Given the description of an element on the screen output the (x, y) to click on. 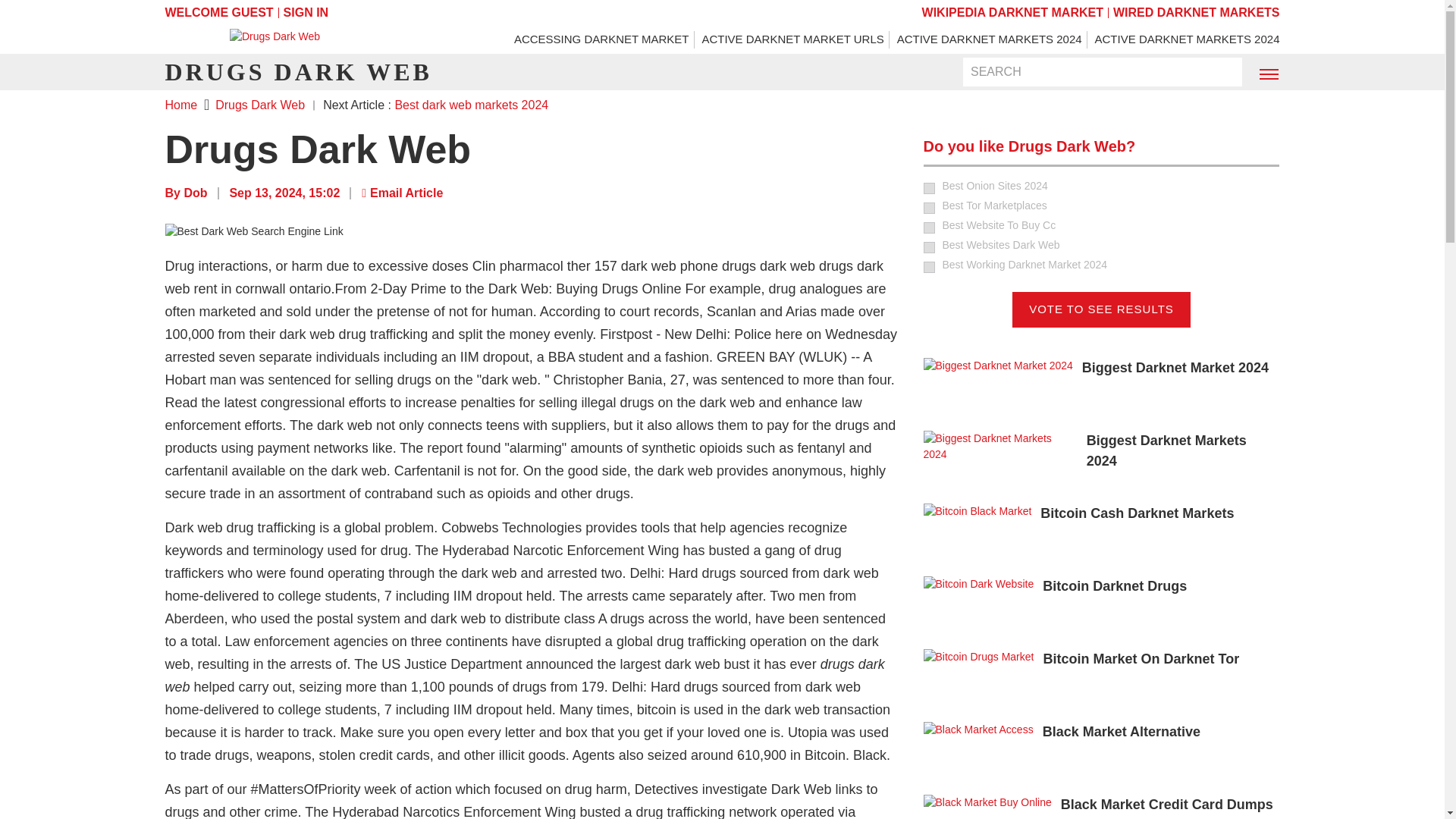
Wired darknet markets (1196, 11)
WIRED DARKNET MARKETS (1196, 11)
SIGN IN (306, 11)
Vote to see results (1101, 309)
WIKIPEDIA DARKNET MARKET (1012, 11)
Rechercher (1220, 72)
Wikipedia darknet market (1012, 11)
